Given the description of an element on the screen output the (x, y) to click on. 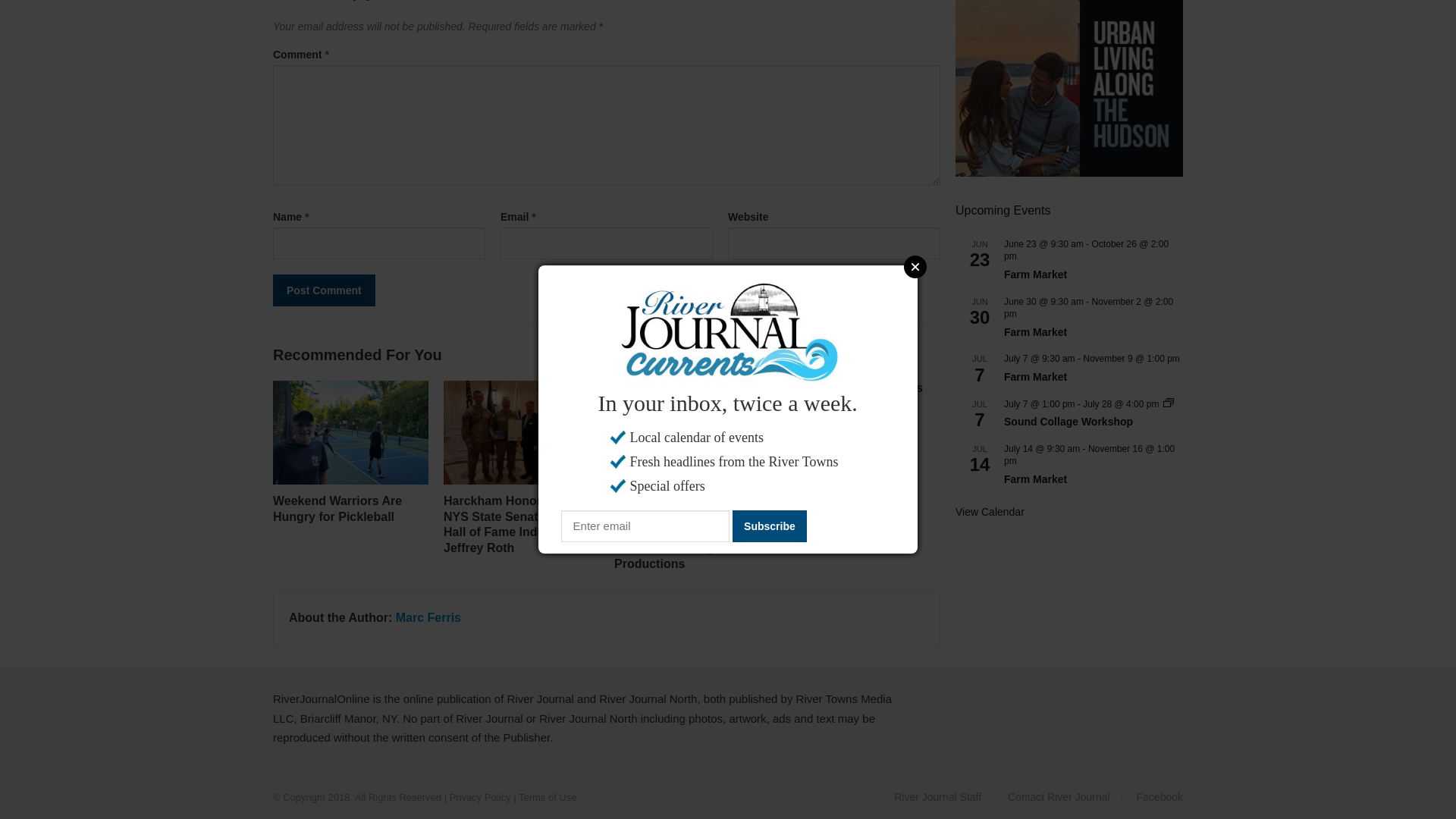
Event Series (1168, 403)
Event Series (1168, 402)
